Given the description of an element on the screen output the (x, y) to click on. 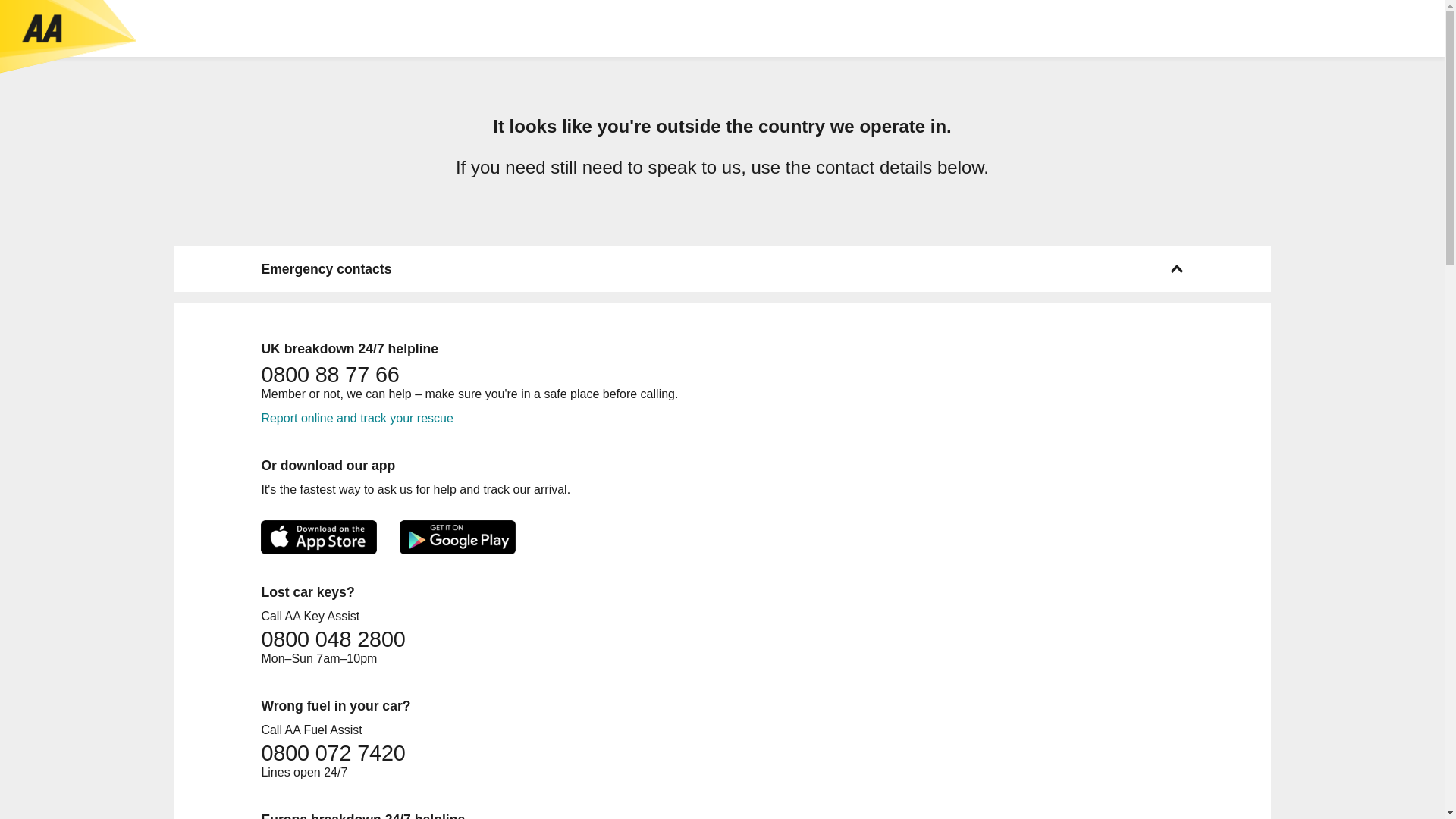
Report online and track your rescue (356, 418)
